Given the description of an element on the screen output the (x, y) to click on. 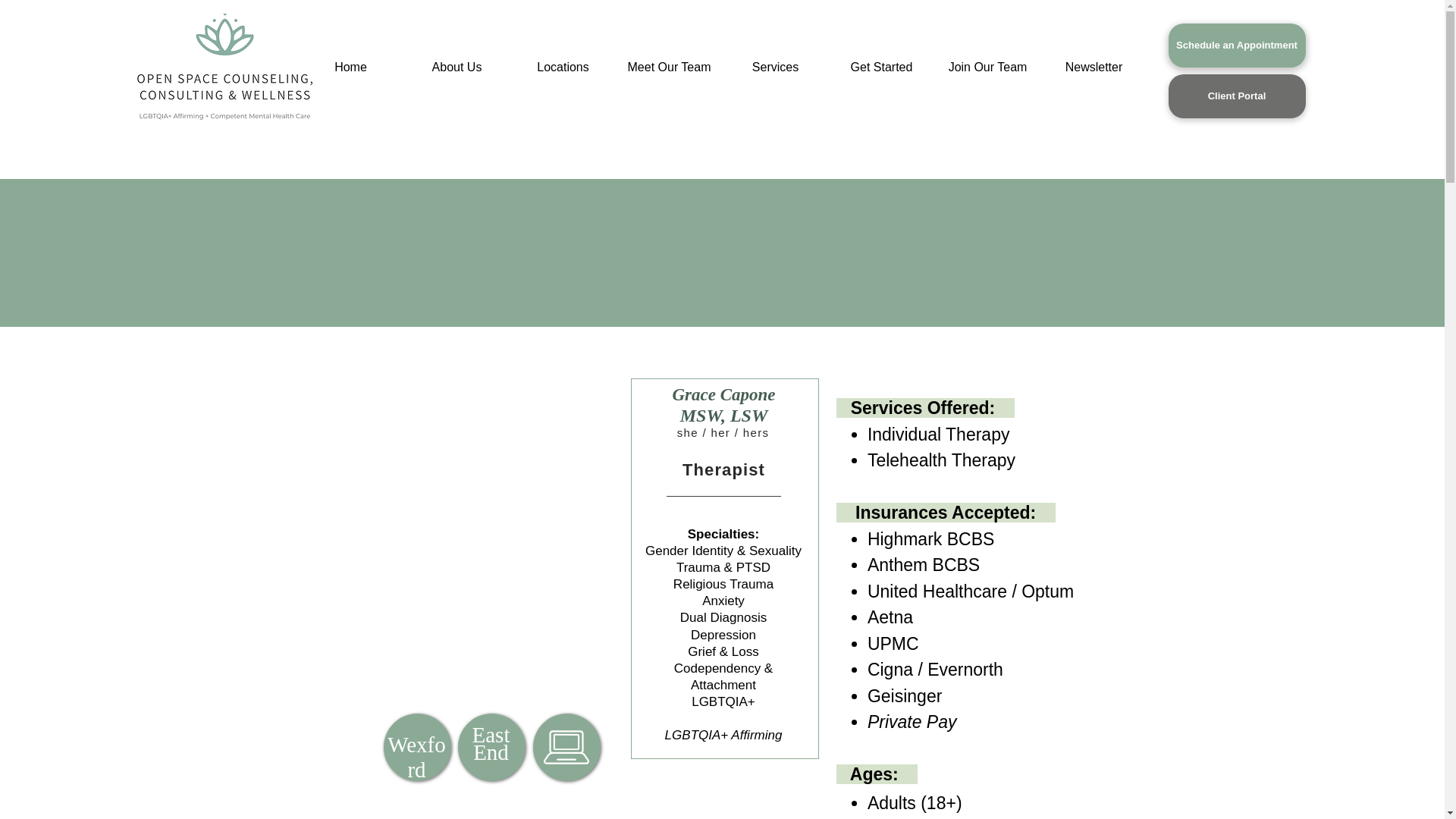
Home (350, 67)
Locations (562, 67)
Meet Our Team (668, 67)
